Given the description of an element on the screen output the (x, y) to click on. 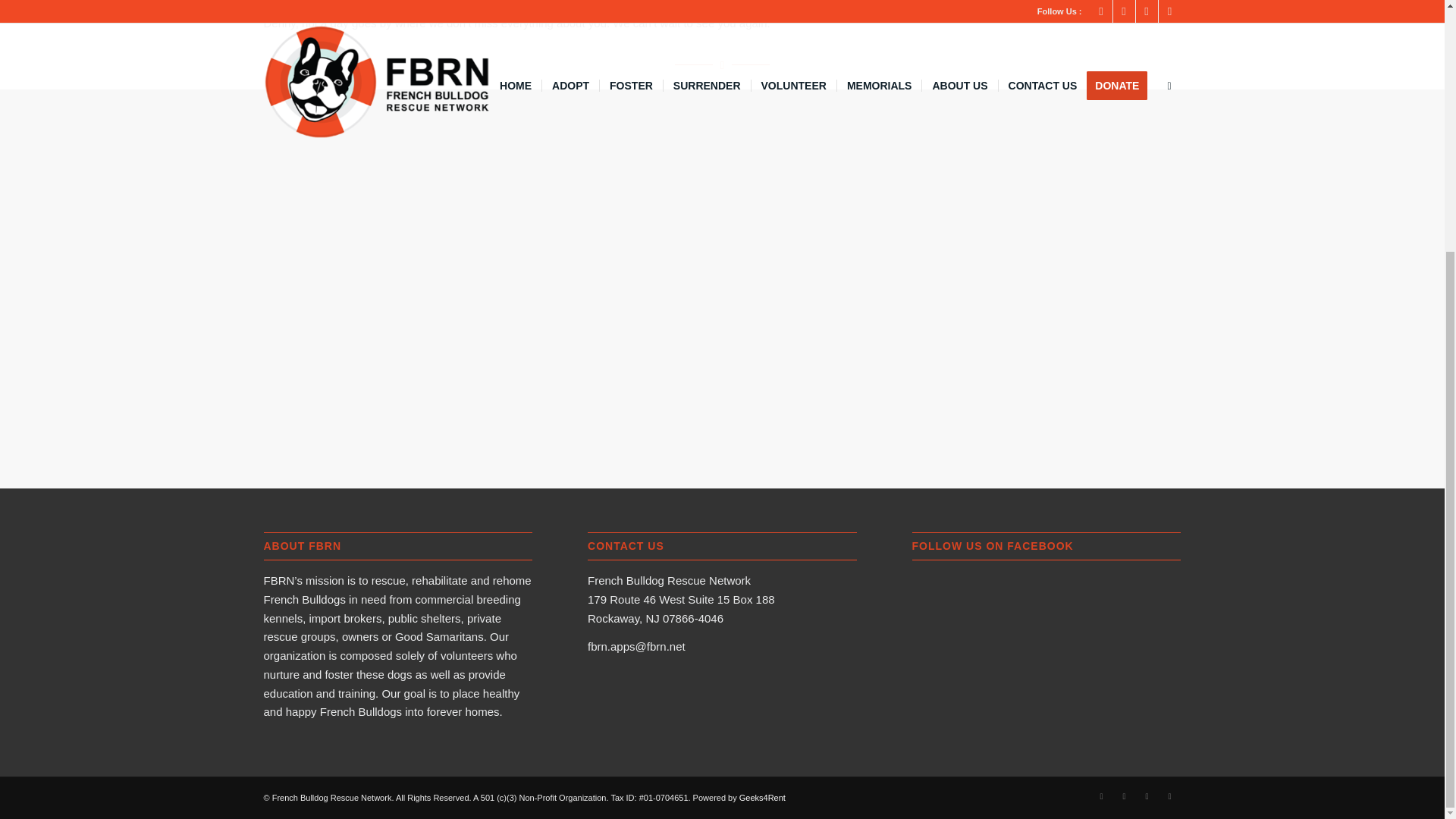
Youtube (1169, 795)
Geeks4Rent (762, 797)
Twitter (1146, 795)
Facebook (1101, 795)
Instagram (1124, 795)
